Given the description of an element on the screen output the (x, y) to click on. 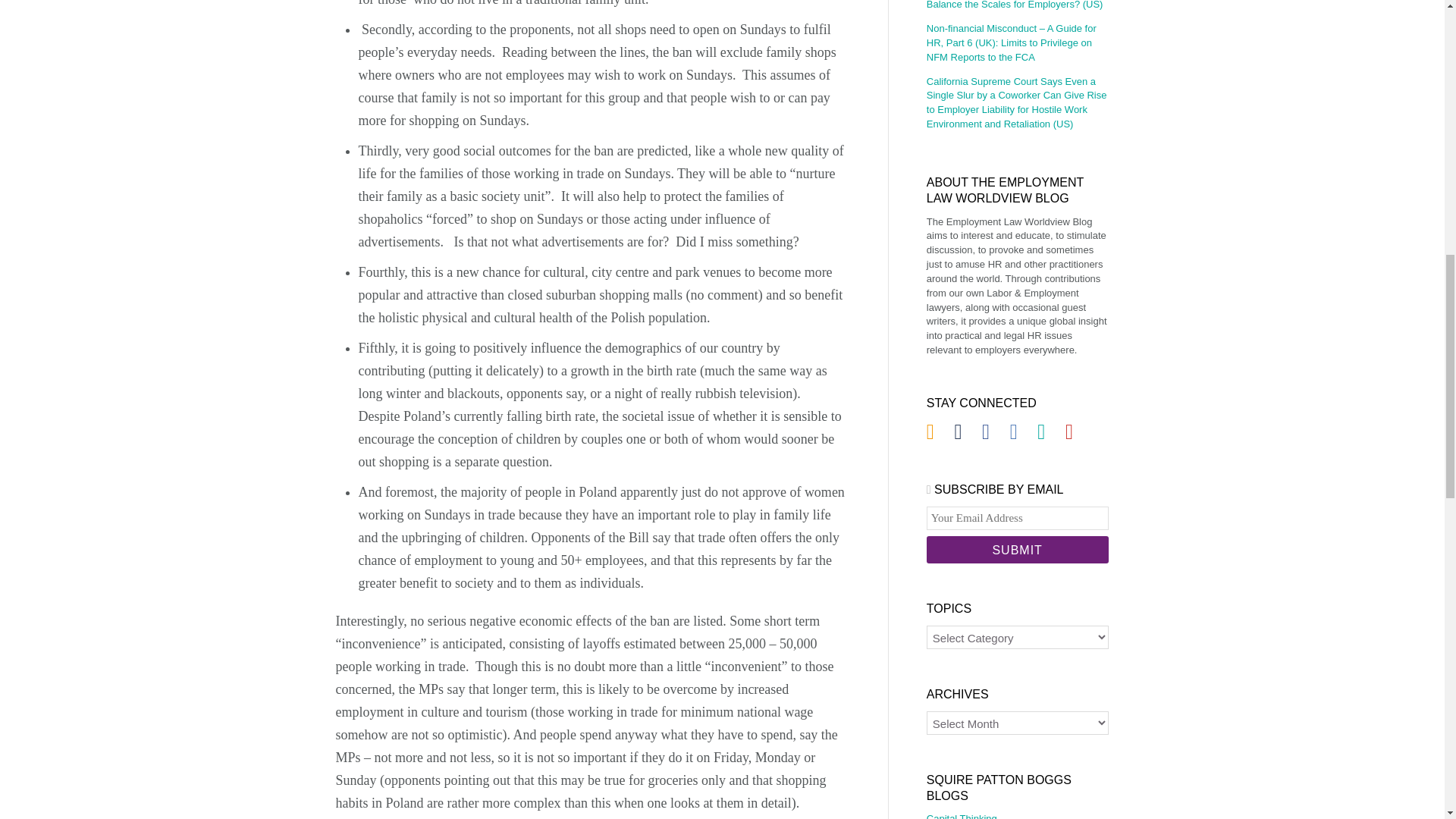
SUBMIT (1017, 549)
SUBMIT (1017, 549)
Capital Thinking (1017, 815)
